Given the description of an element on the screen output the (x, y) to click on. 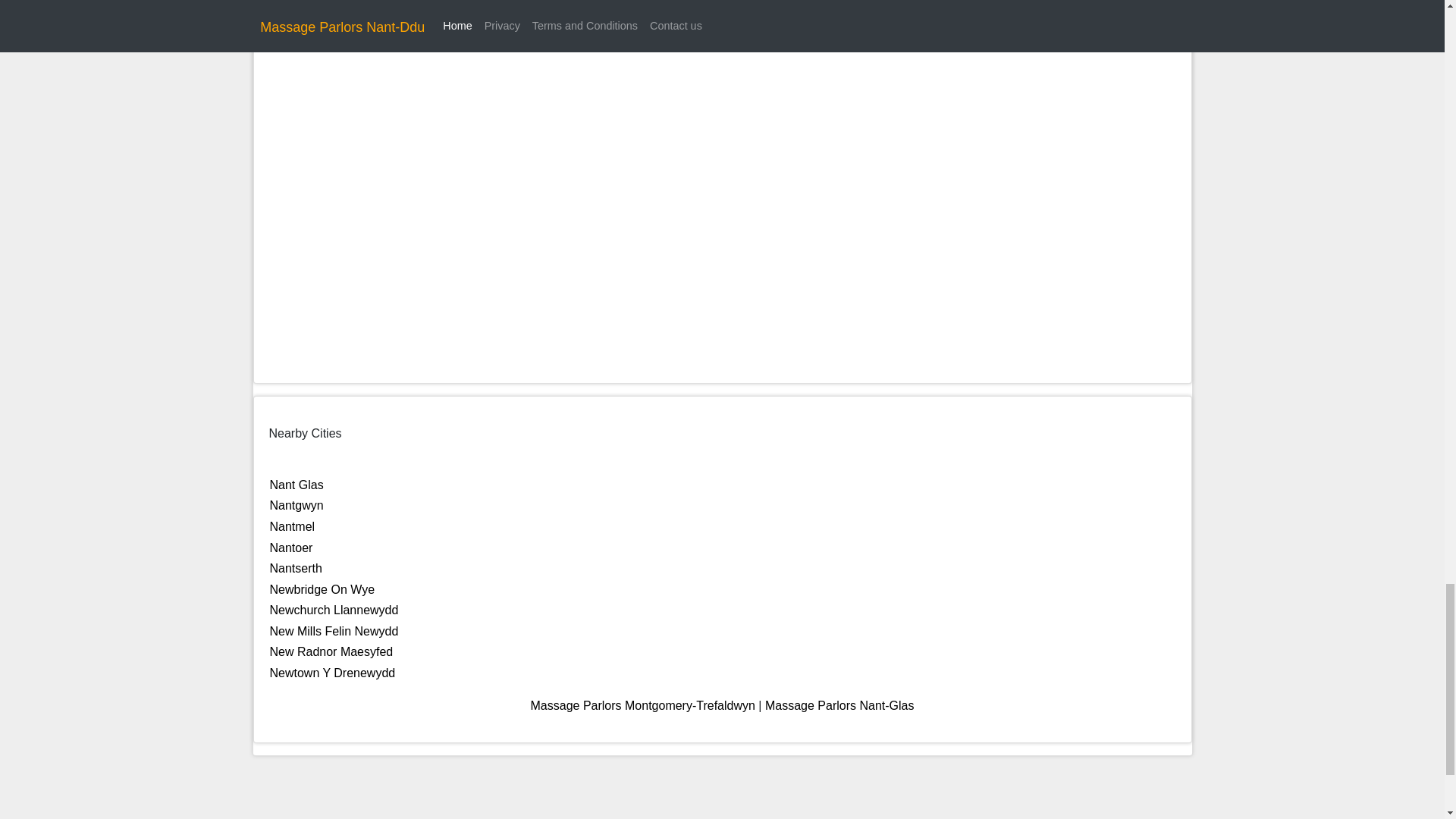
Nantmel (292, 526)
Newbridge On Wye (322, 589)
New Radnor Maesyfed (331, 651)
Nant Glas (296, 484)
New Mills Felin Newydd (333, 631)
Massage Parlors Nant-Glas (839, 705)
Massage Parlors Montgomery-Trefaldwyn (643, 705)
Nantgwyn (296, 504)
Nantserth (295, 567)
Nantoer (291, 547)
